Given the description of an element on the screen output the (x, y) to click on. 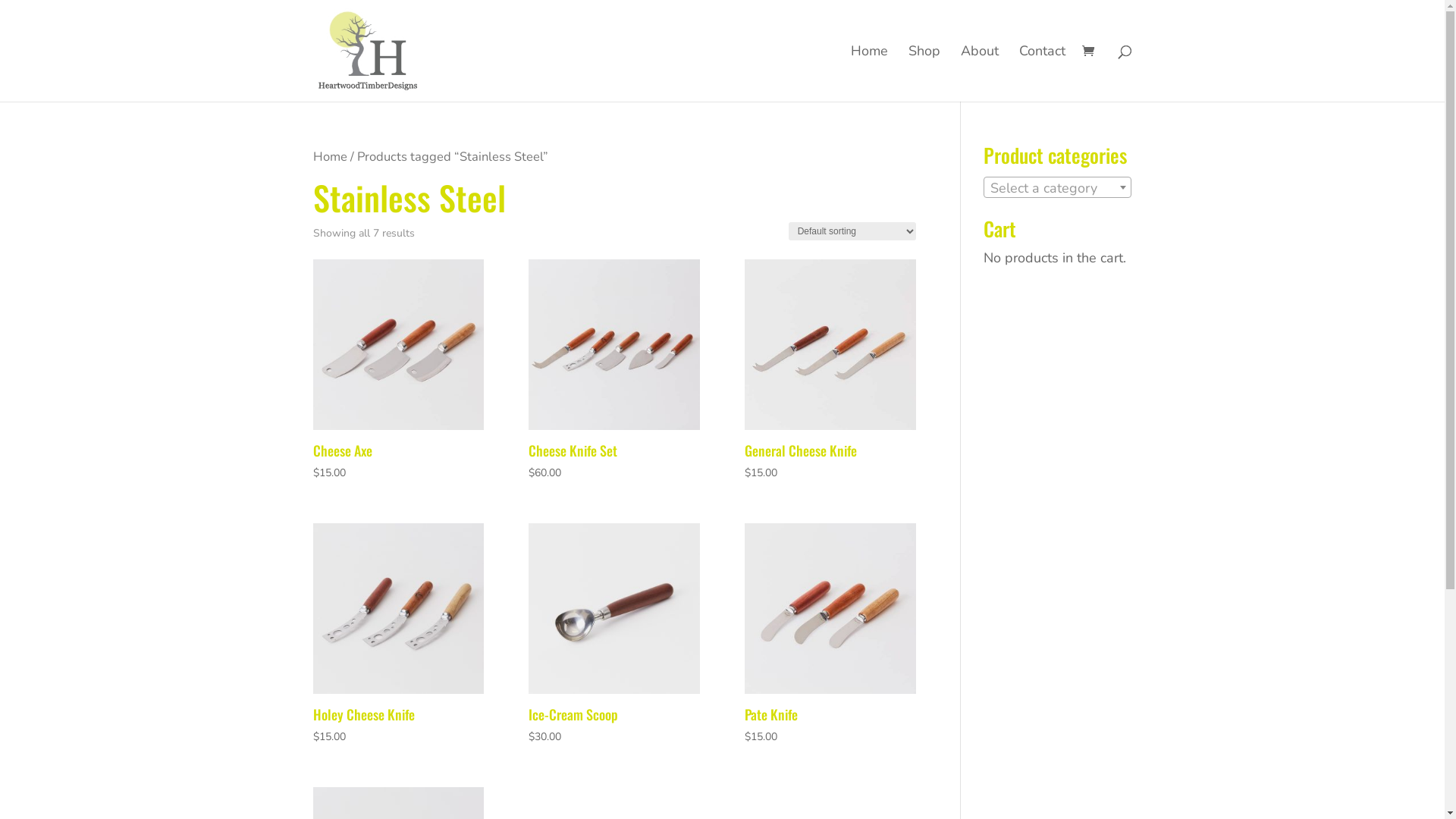
Pate Knife
$15.00 Element type: text (829, 634)
About Element type: text (978, 73)
Cheese Axe
$15.00 Element type: text (397, 370)
General Cheese Knife
$15.00 Element type: text (829, 370)
Holey Cheese Knife
$15.00 Element type: text (397, 634)
Ice-Cream Scoop
$30.00 Element type: text (613, 634)
Cheese Knife Set
$60.00 Element type: text (613, 370)
Home Element type: text (329, 156)
Contact Element type: text (1042, 73)
Home Element type: text (869, 73)
Shop Element type: text (924, 73)
